Given the description of an element on the screen output the (x, y) to click on. 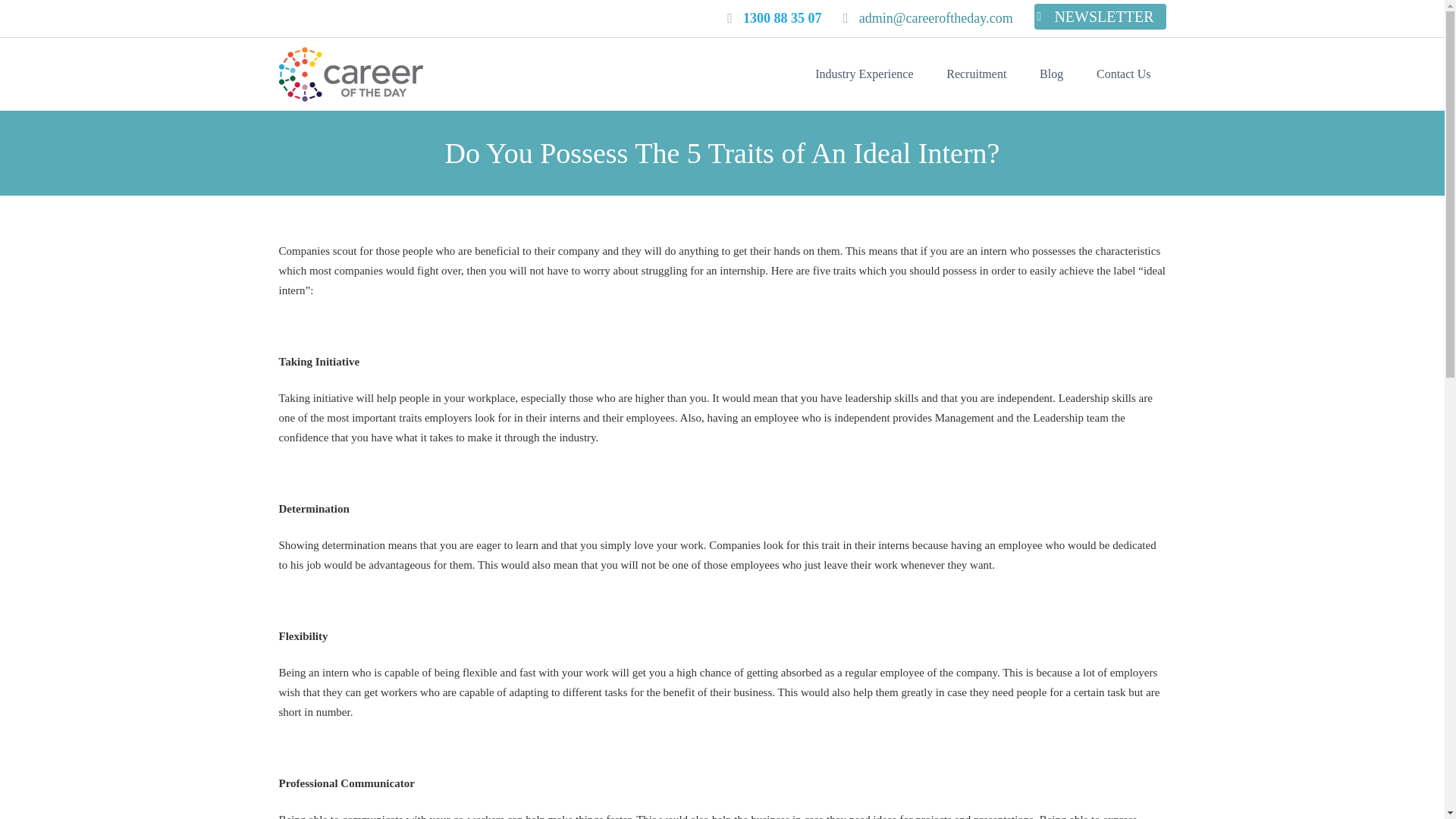
Industry Experience (863, 74)
Contact Us (1123, 74)
NEWSLETTER (1099, 16)
Recruitment (976, 74)
